Given the description of an element on the screen output the (x, y) to click on. 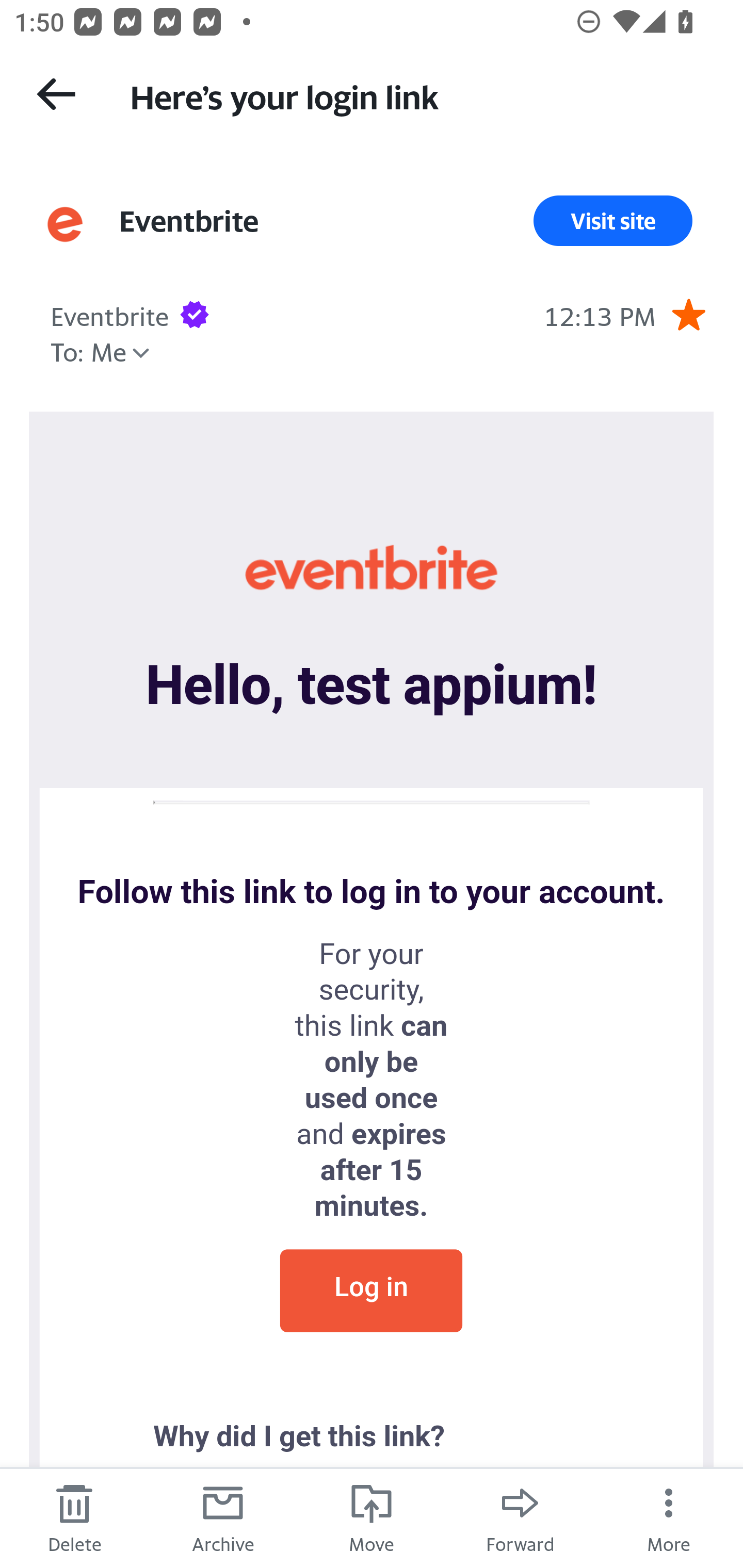
Back (55, 93)
Here’s your login link (418, 94)
View all messages from sender (64, 225)
Visit site Visit Site Link (612, 221)
Eventbrite Sender Eventbrite (188, 220)
Eventbrite Sender Eventbrite (109, 314)
Remove star. (688, 314)
Eventbrite (371, 570)
Log in (370, 1289)
Delete (74, 1517)
Archive (222, 1517)
Move (371, 1517)
Forward (519, 1517)
More (668, 1517)
